Given the description of an element on the screen output the (x, y) to click on. 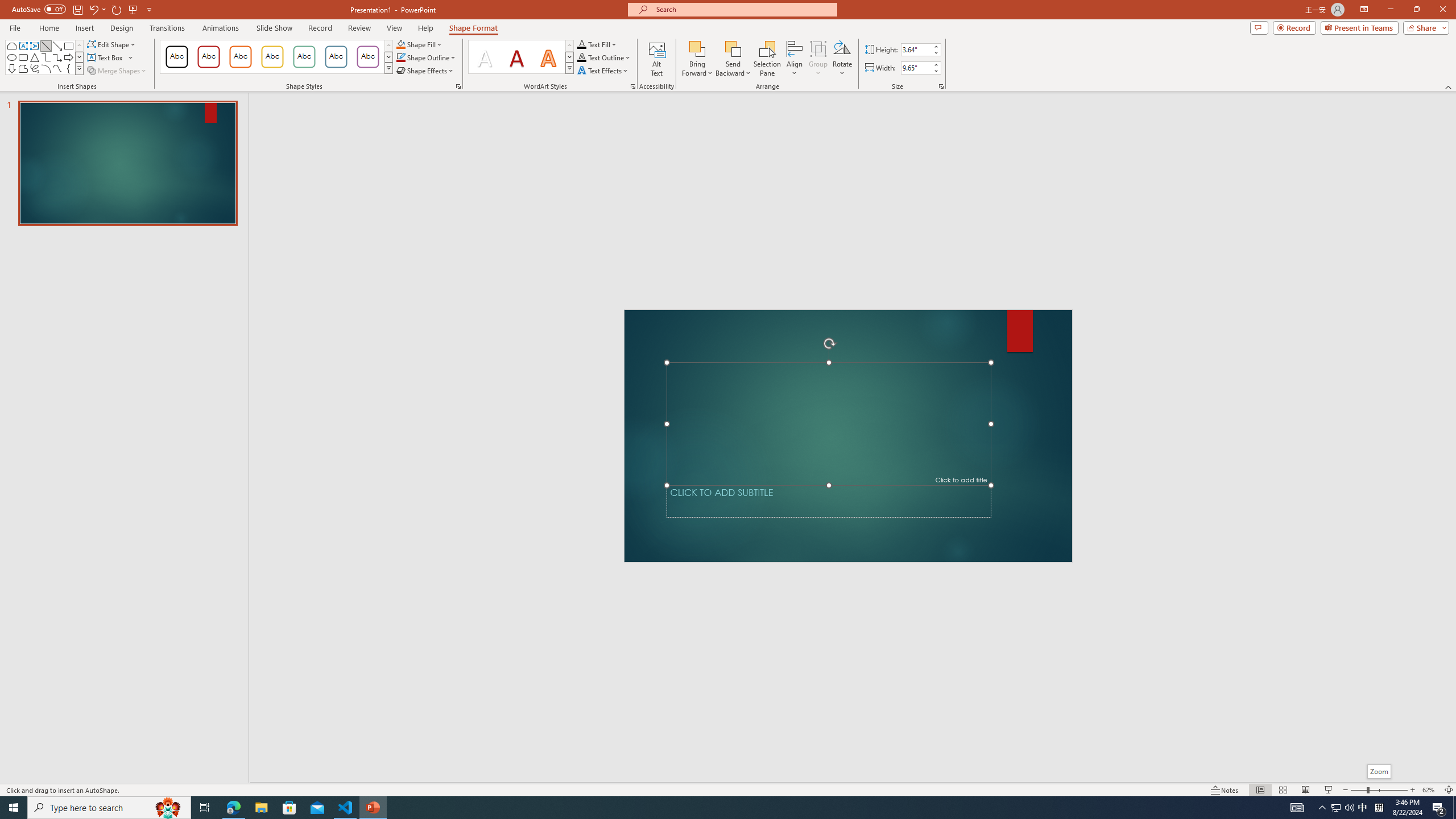
Text Fill (596, 44)
Merge Shapes (117, 69)
Text Effects (603, 69)
Class: NetUIImage (569, 68)
Format Text Effects... (632, 85)
Bring Forward (697, 58)
Text Fill RGB(0, 0, 0) (581, 44)
Freeform: Shape (23, 68)
Vertical Text Box (34, 45)
Connector: Elbow (46, 57)
